Given the description of an element on the screen output the (x, y) to click on. 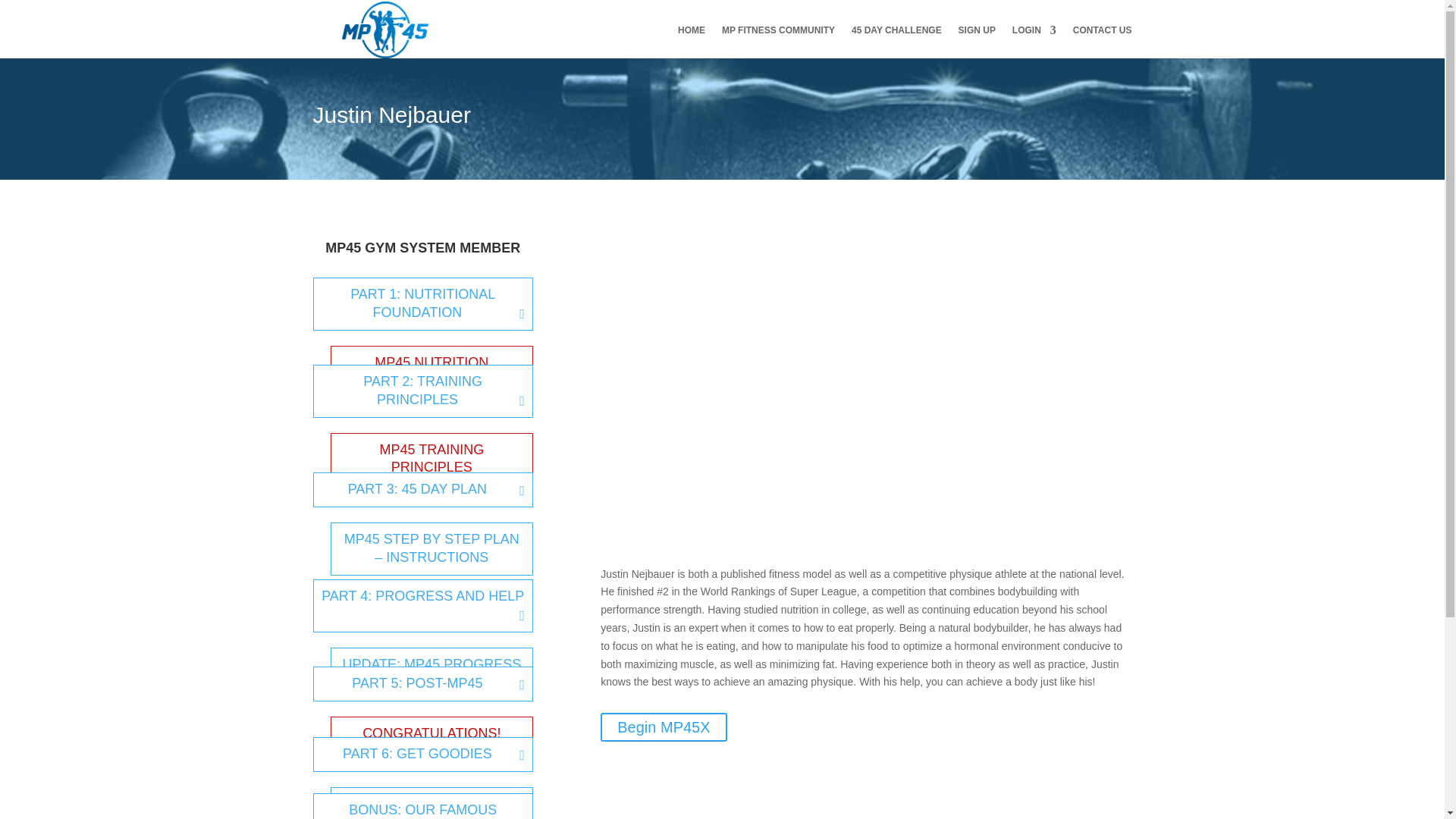
CONTACT US (1102, 41)
PART 2: TRAINING PRINCIPLES (422, 390)
PART 5: POST-MP45 (422, 683)
PART 1: NUTRITIONAL FOUNDATION (422, 303)
MP45 TRAINING PRINCIPLES (431, 459)
45 DAY CHALLENGE (896, 41)
PART 4: PROGRESS AND HELP (422, 605)
MP45 NUTRITION PRINCIPLES (431, 371)
MP FITNESS COMMUNITY (778, 41)
UPDATE: MP45 PROGRESS REPORT (431, 674)
